Given the description of an element on the screen output the (x, y) to click on. 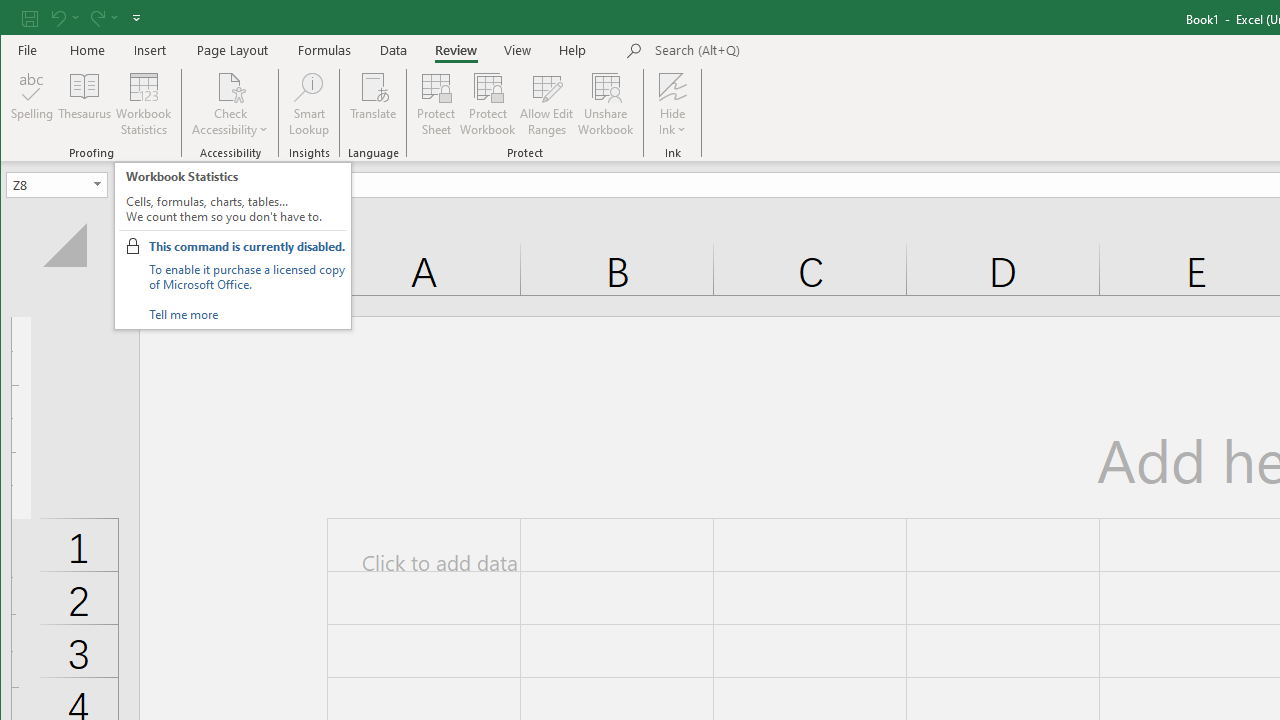
Insert (150, 50)
Workbook Statistics (143, 104)
Quick Access Toolbar (83, 17)
Allow Edit Ranges (547, 104)
Class: NetUIImage (132, 246)
Microsoft search (794, 51)
This command is currently disabled. (246, 246)
Home (87, 50)
File Tab (28, 49)
Spelling... (32, 104)
Smart Lookup (308, 104)
Protect Workbook... (488, 104)
Data (394, 50)
